Given the description of an element on the screen output the (x, y) to click on. 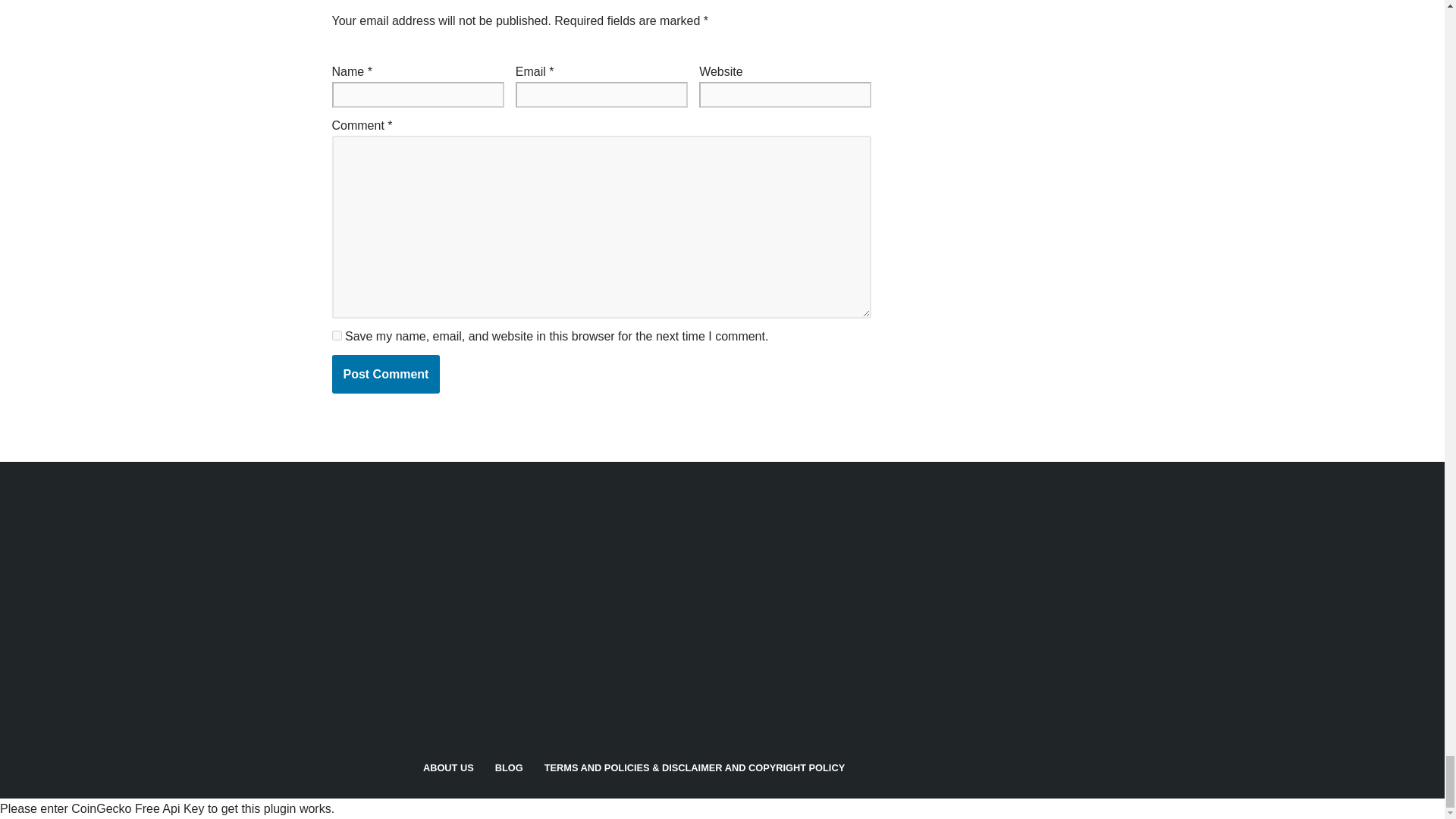
Post Comment (386, 373)
Post Comment (386, 373)
yes (336, 335)
